Given the description of an element on the screen output the (x, y) to click on. 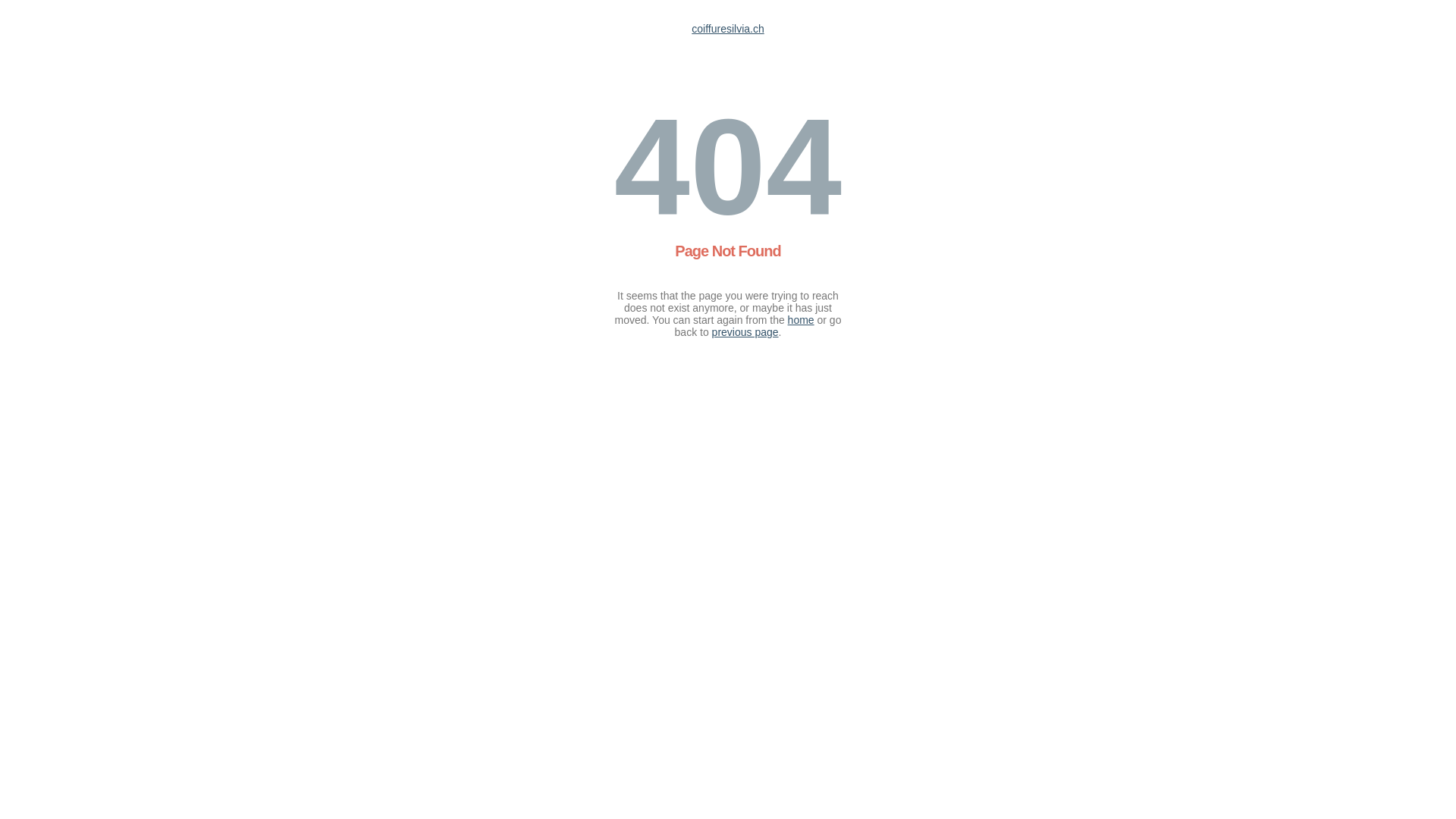
home Element type: text (800, 319)
coiffuresilvia.ch Element type: text (727, 28)
previous page Element type: text (745, 332)
